Given the description of an element on the screen output the (x, y) to click on. 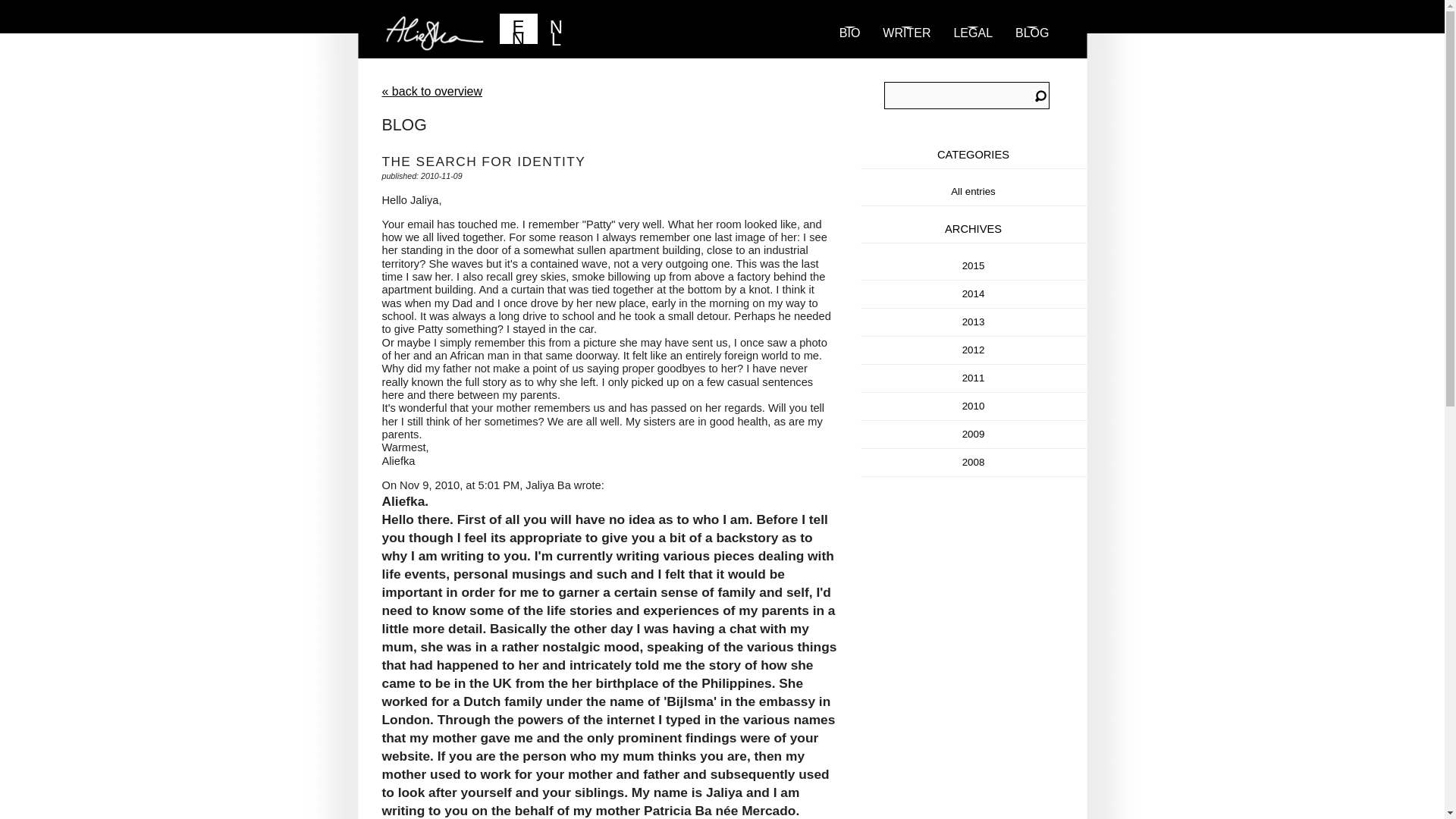
Portfolio (906, 48)
2015 (973, 265)
2013 (973, 321)
NL (556, 28)
Aliefka (554, 34)
BIO (850, 48)
BLOG (1031, 48)
EN (518, 28)
LEGAL (973, 48)
Year 2008 archives (973, 461)
Year 2014 archives (973, 293)
Year 2015 archives (973, 265)
All entries (972, 191)
2014 (973, 293)
Search (1040, 96)
